Given the description of an element on the screen output the (x, y) to click on. 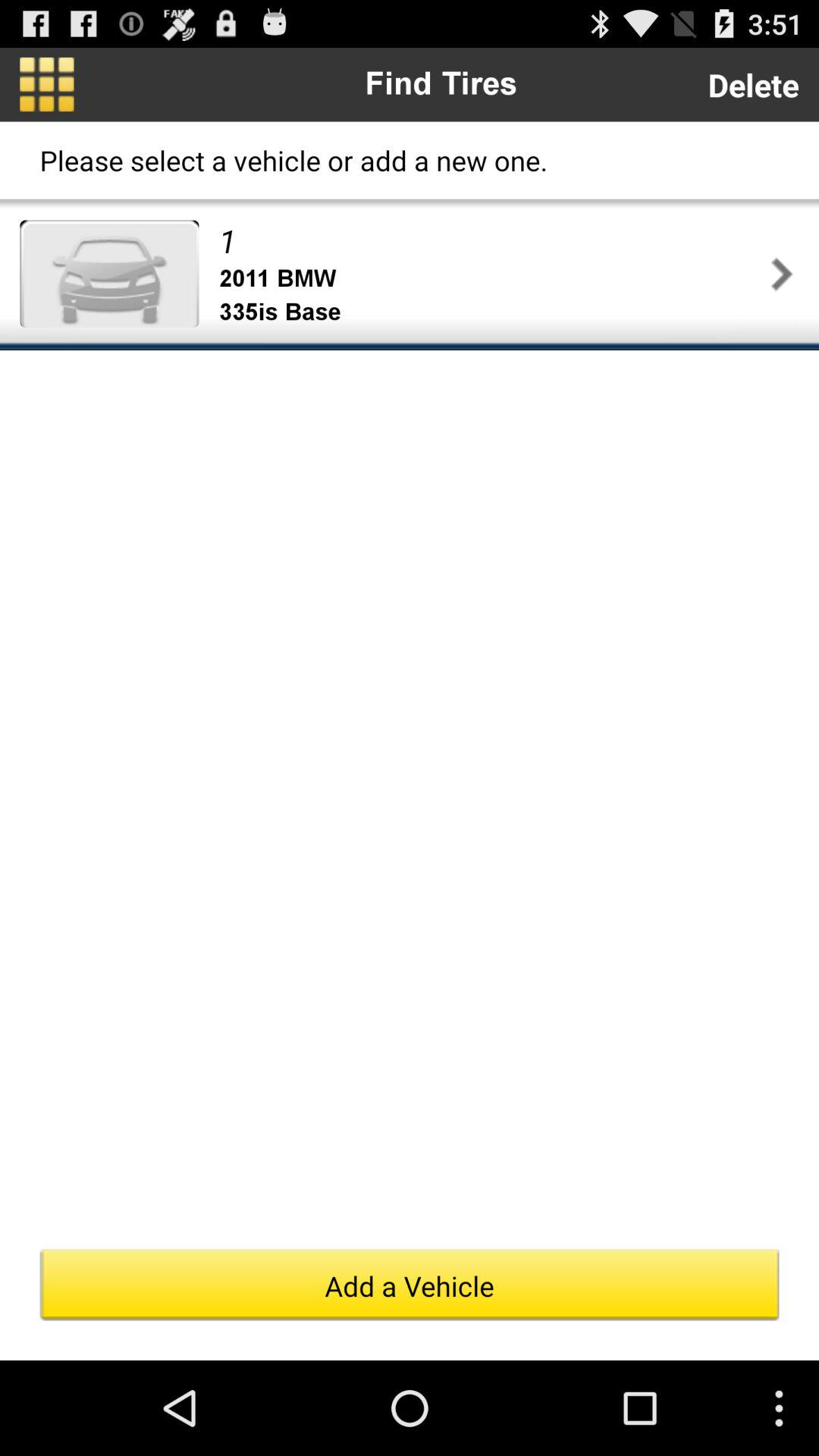
flip to delete app (753, 84)
